Given the description of an element on the screen output the (x, y) to click on. 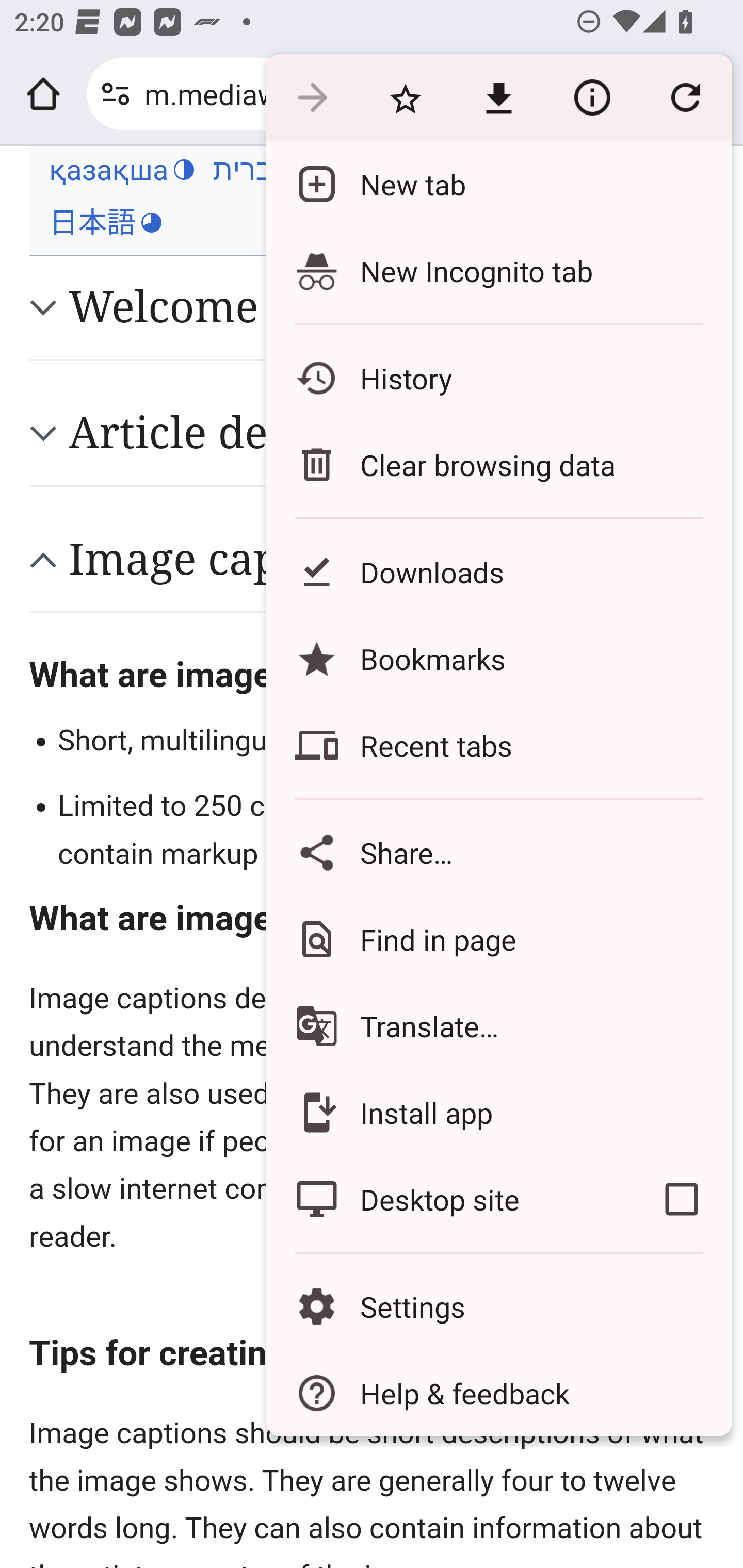
Forward (311, 97)
Bookmark (404, 97)
Download (498, 97)
Page info (591, 97)
Refresh (684, 97)
New tab (498, 184)
New Incognito tab (498, 270)
History (498, 377)
Clear browsing data (498, 464)
Downloads (498, 571)
Bookmarks (498, 658)
Recent tabs (498, 745)
Share… (498, 852)
Find in page (498, 939)
Translate… (498, 1026)
Install app (498, 1112)
Desktop site Turn on Request desktop site (447, 1198)
Settings (498, 1306)
Help & feedback (498, 1393)
